Given the description of an element on the screen output the (x, y) to click on. 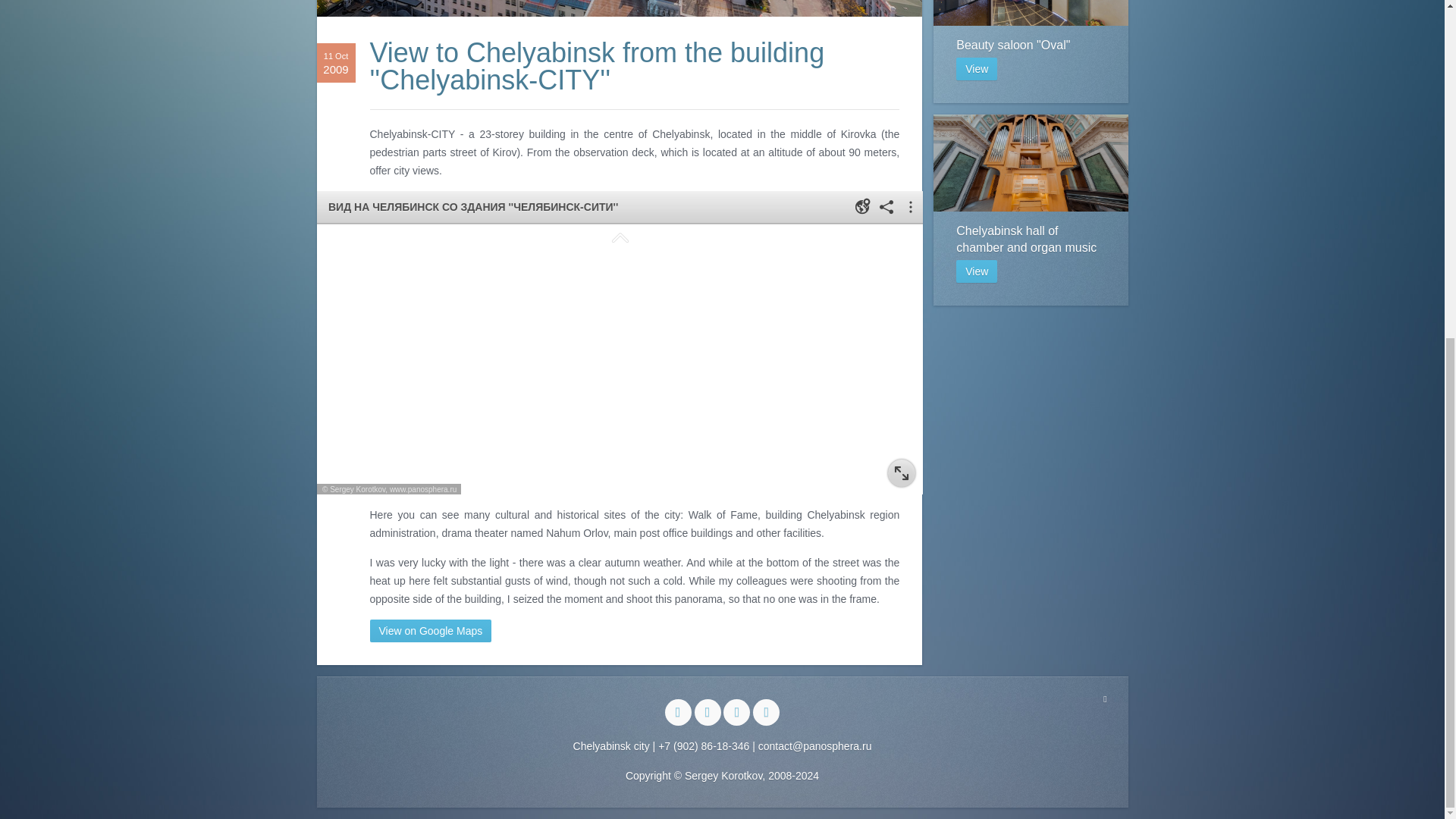
View (976, 271)
Twitter (1029, 209)
View on Google Maps (765, 712)
View (430, 630)
Facebook (976, 68)
